Given the description of an element on the screen output the (x, y) to click on. 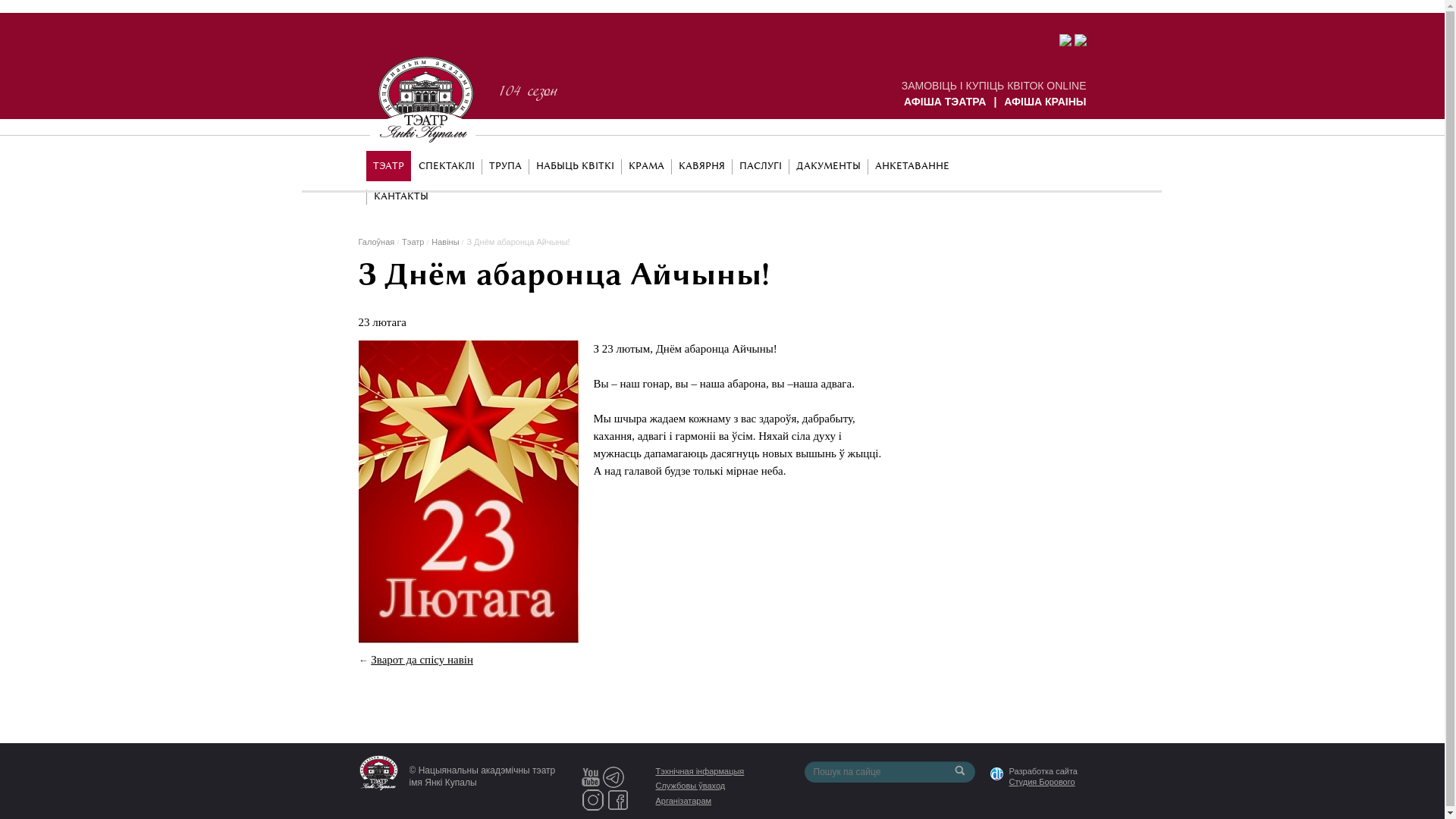
telegramm Element type: hover (613, 775)
instagramm Element type: hover (591, 798)
youtube Element type: hover (589, 775)
In English Element type: text (1054, 164)
facebook Element type: hover (617, 798)
